Given the description of an element on the screen output the (x, y) to click on. 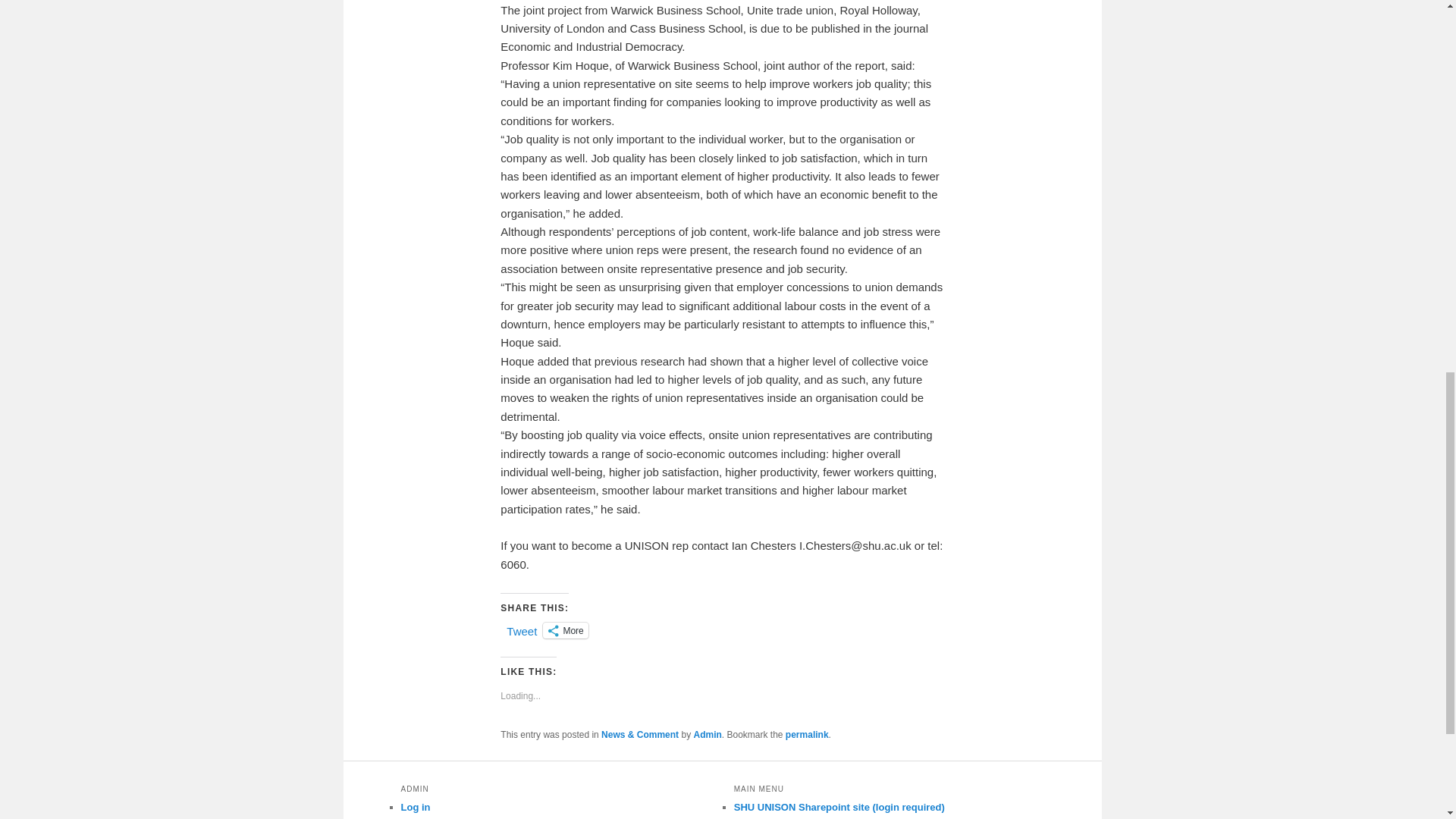
More (565, 630)
Email Address (1348, 162)
permalink (807, 734)
Log in (414, 807)
Tweet (521, 629)
Admin (706, 734)
Sign me up! (1320, 192)
